Given the description of an element on the screen output the (x, y) to click on. 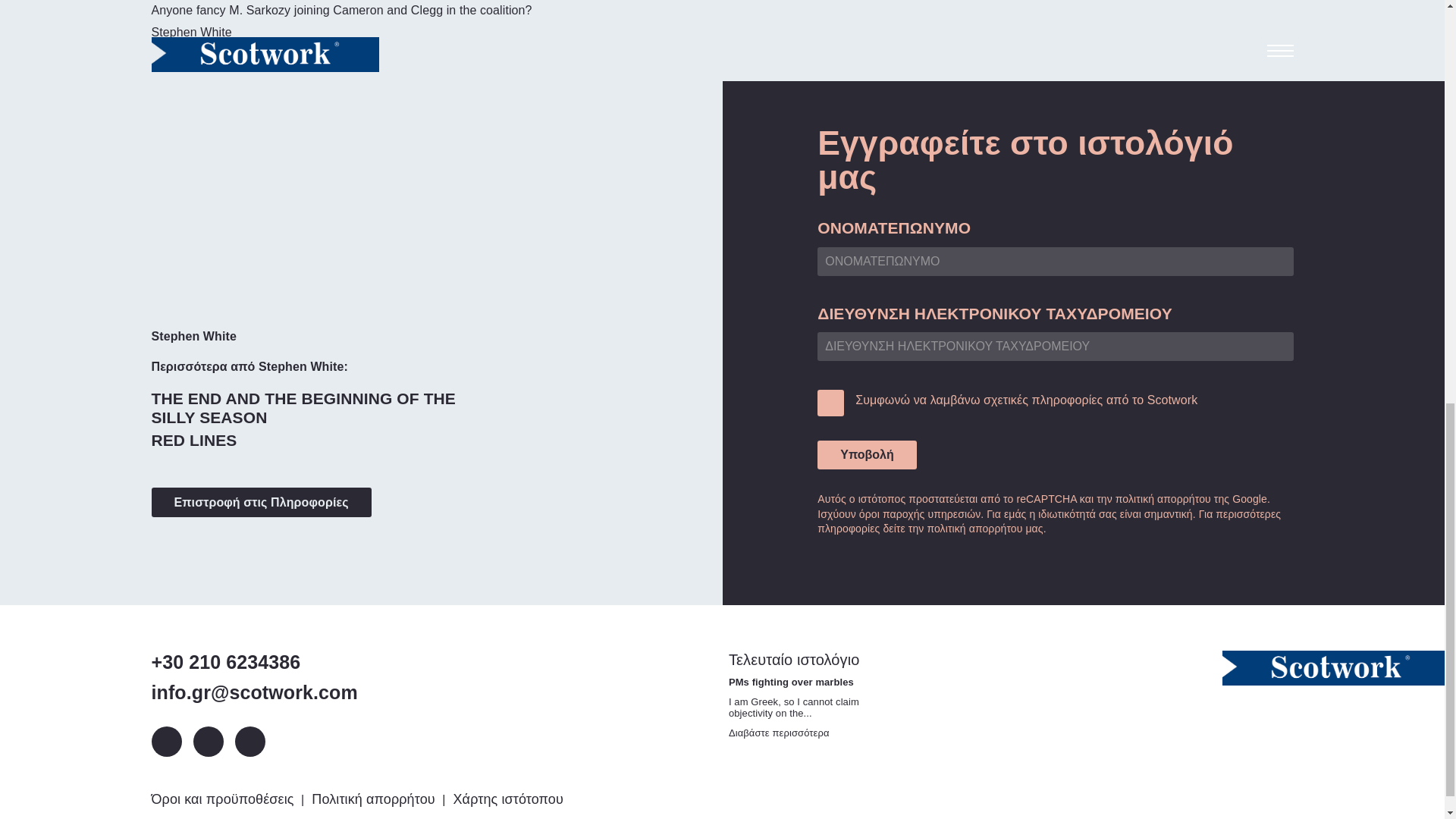
THE END AND THE BEGINNING OF THE SILLY SEASON (317, 407)
facebook (249, 741)
RED LINES (194, 439)
PMs fighting over marbles (779, 732)
linkedin (166, 741)
Red Lines (194, 439)
The End and the Beginning of the Silly Season (317, 407)
twitter (207, 741)
